Given the description of an element on the screen output the (x, y) to click on. 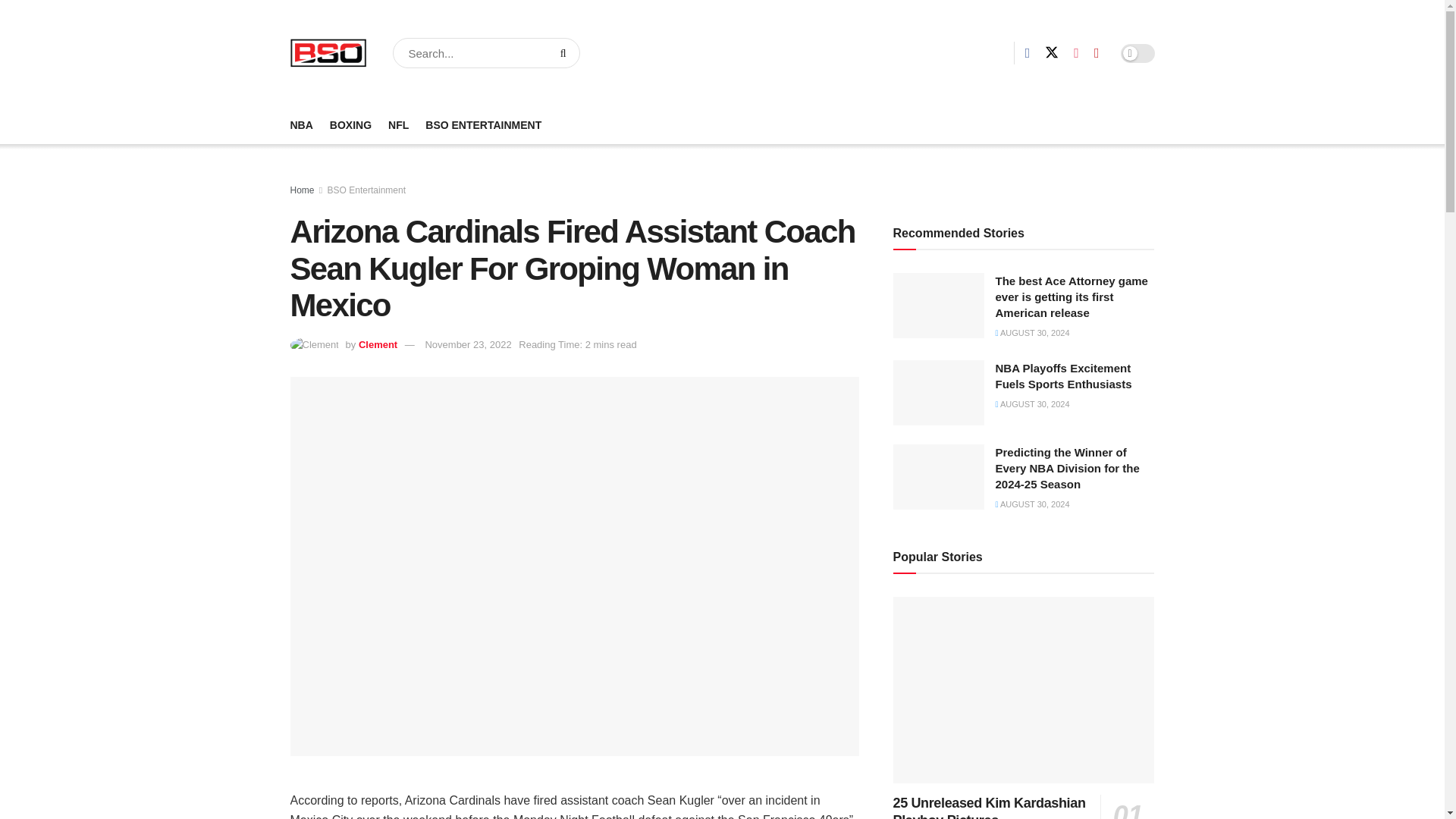
Clement (377, 344)
BSO Entertainment (366, 190)
BSO ENTERTAINMENT (483, 125)
November 23, 2022 (468, 344)
Home (301, 190)
BOXING (350, 125)
